Given the description of an element on the screen output the (x, y) to click on. 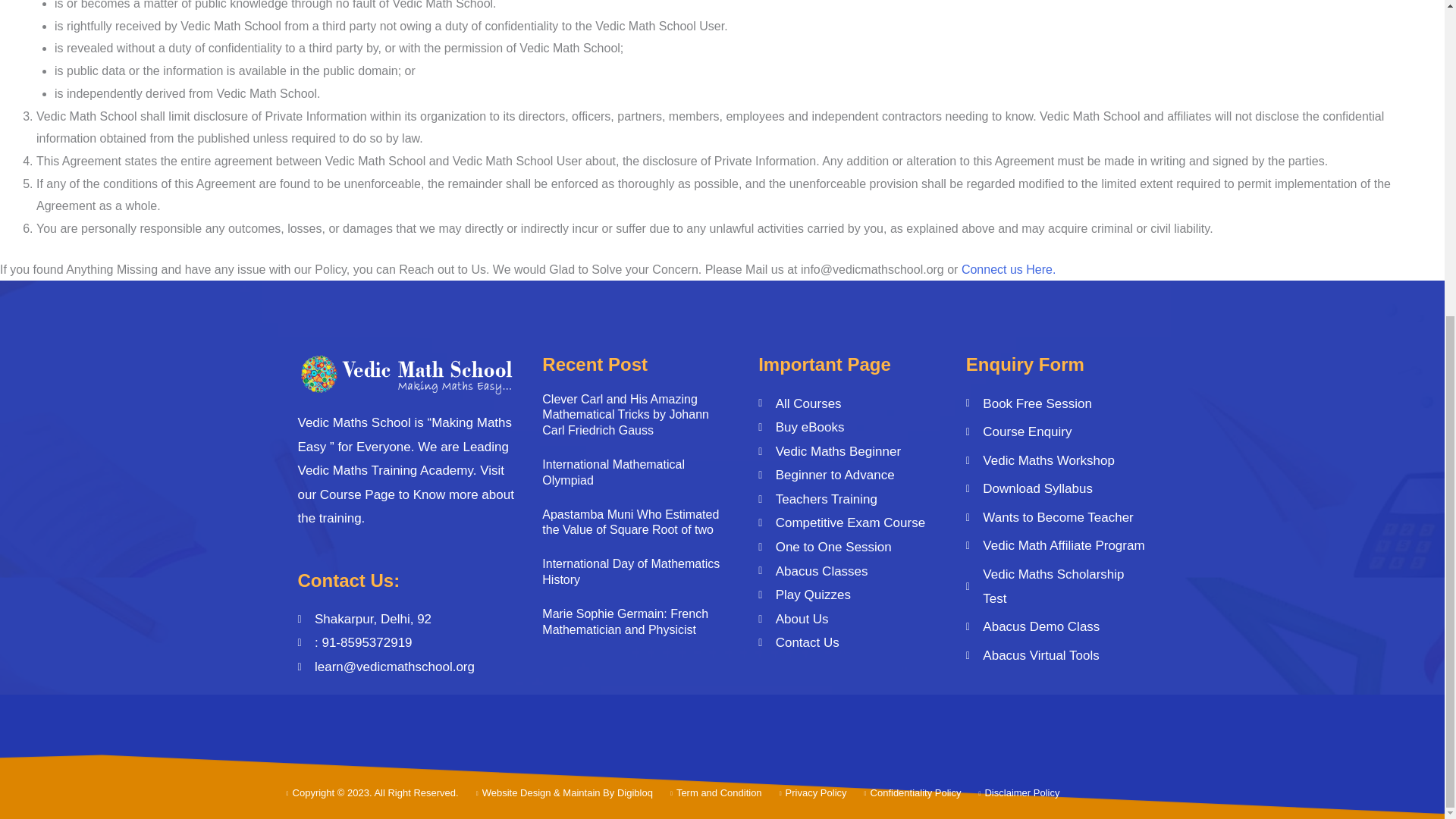
Shakarpur, Delhi, 92 (406, 619)
: 91-8595372919 (406, 642)
Connect us Here. (1008, 269)
International Day of Mathematics History (630, 571)
Apastamba Muni Who Estimated the Value of Square Root of two (630, 522)
International Mathematical Olympiad (612, 471)
